Given the description of an element on the screen output the (x, y) to click on. 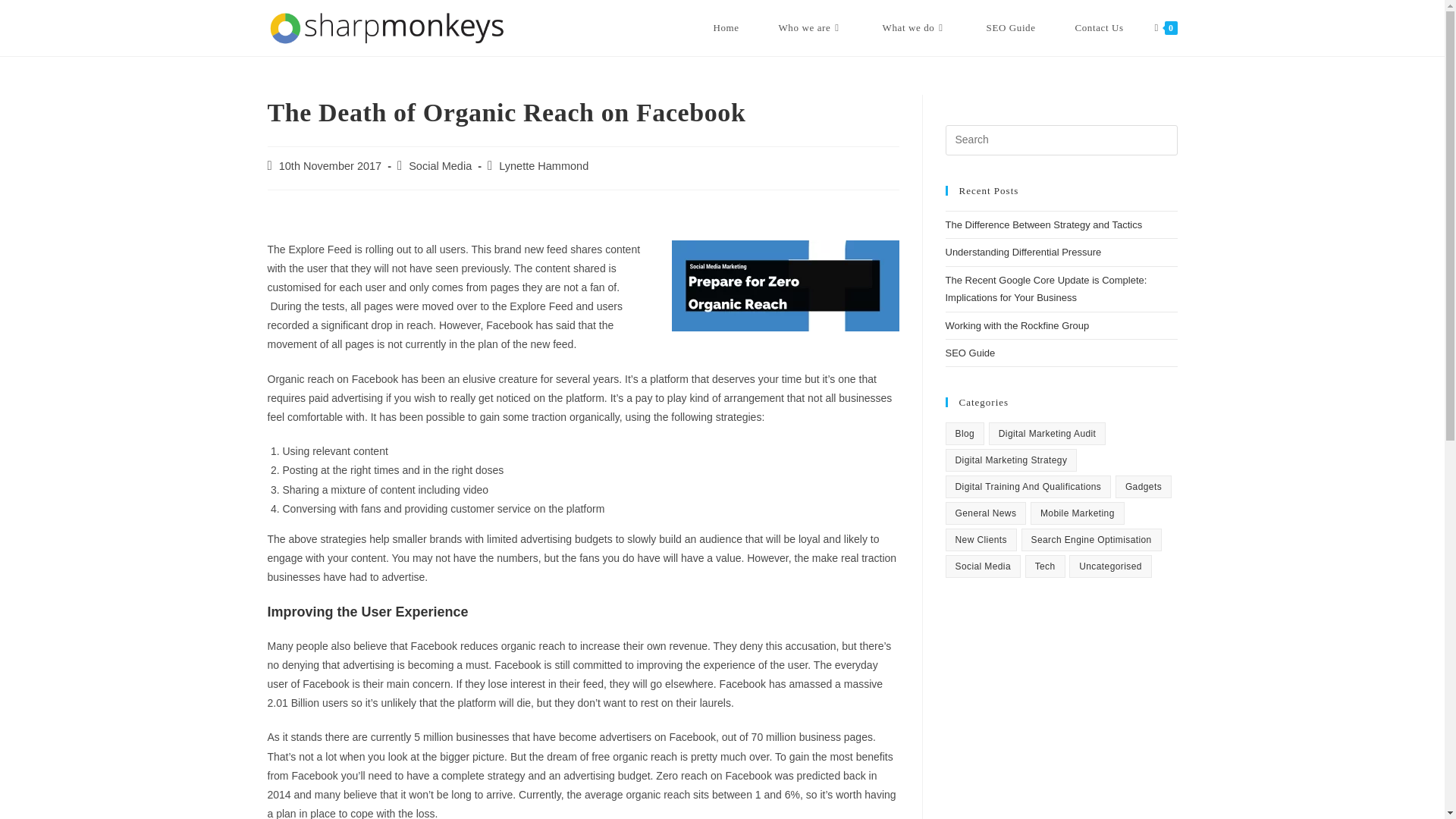
Home (726, 28)
SEO Guide (1010, 28)
Who we are (810, 28)
Posts by Lynette Hammond (543, 165)
What we do (914, 28)
Contact Us (1098, 28)
